Given the description of an element on the screen output the (x, y) to click on. 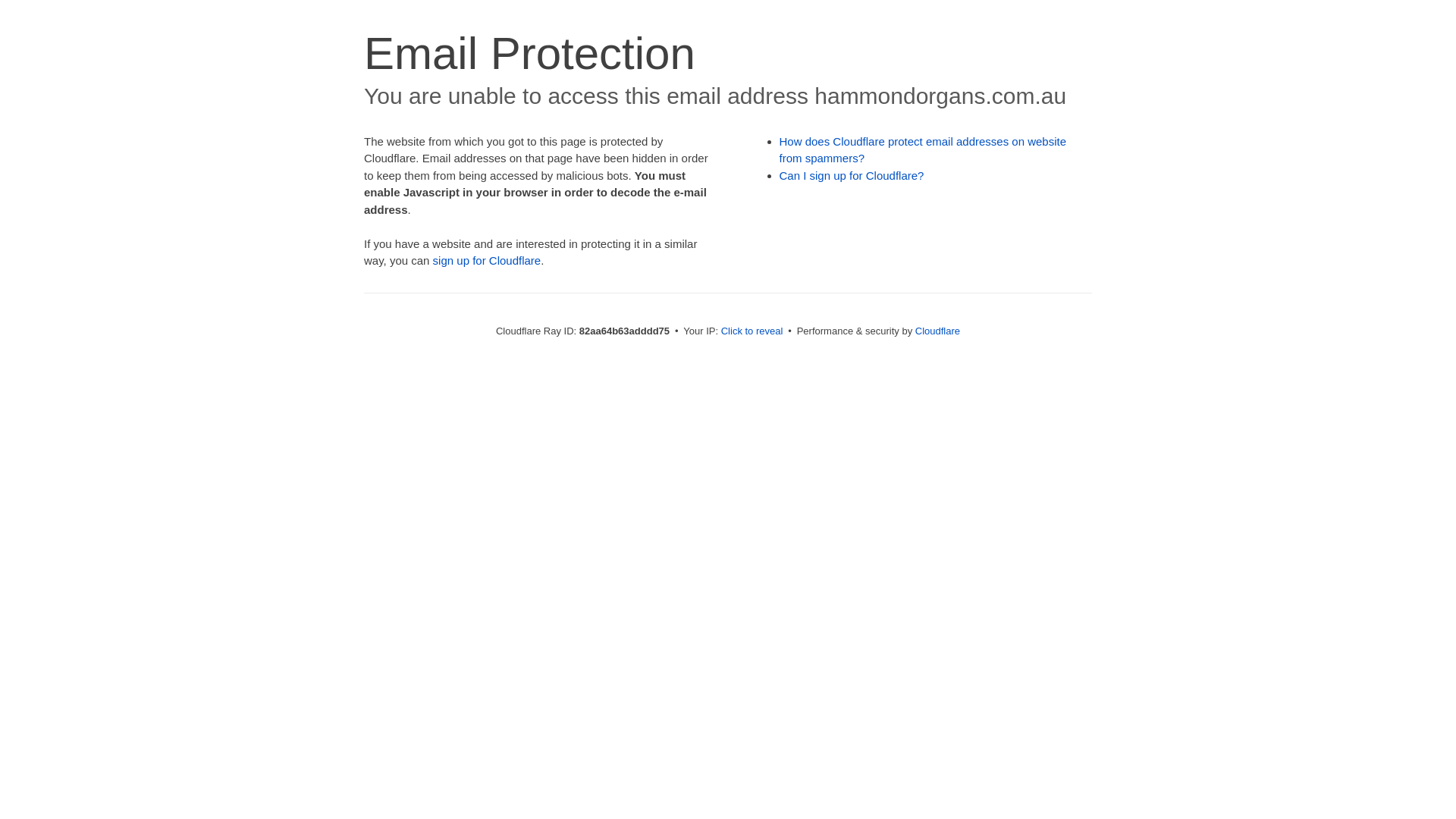
sign up for Cloudflare Element type: text (487, 260)
Cloudflare Element type: text (937, 330)
Click to reveal Element type: text (752, 330)
Can I sign up for Cloudflare? Element type: text (851, 175)
